Given the description of an element on the screen output the (x, y) to click on. 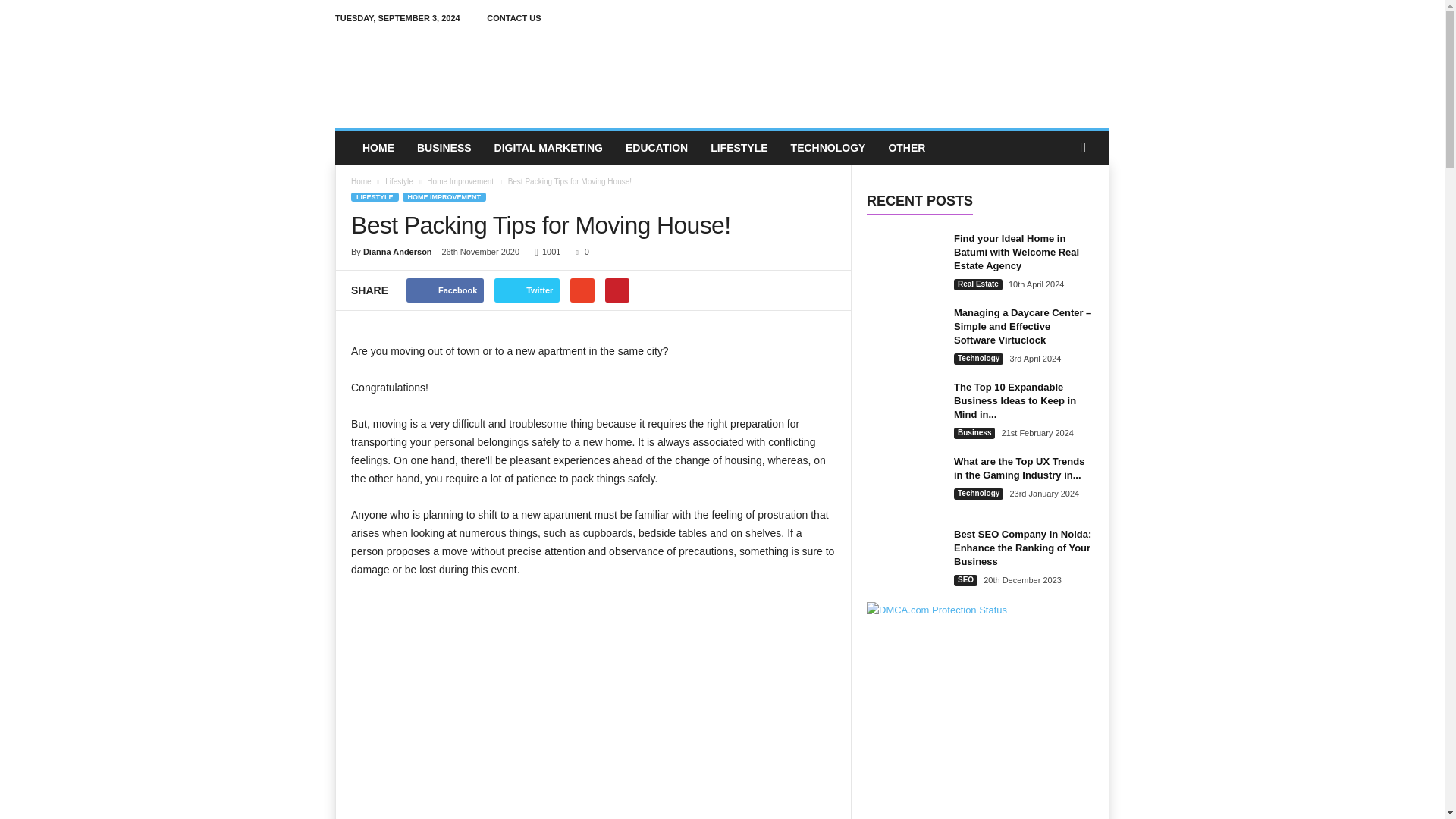
View all posts in Lifestyle (399, 181)
View all posts in Home Improvement (459, 181)
CONTACT US (513, 17)
